Given the description of an element on the screen output the (x, y) to click on. 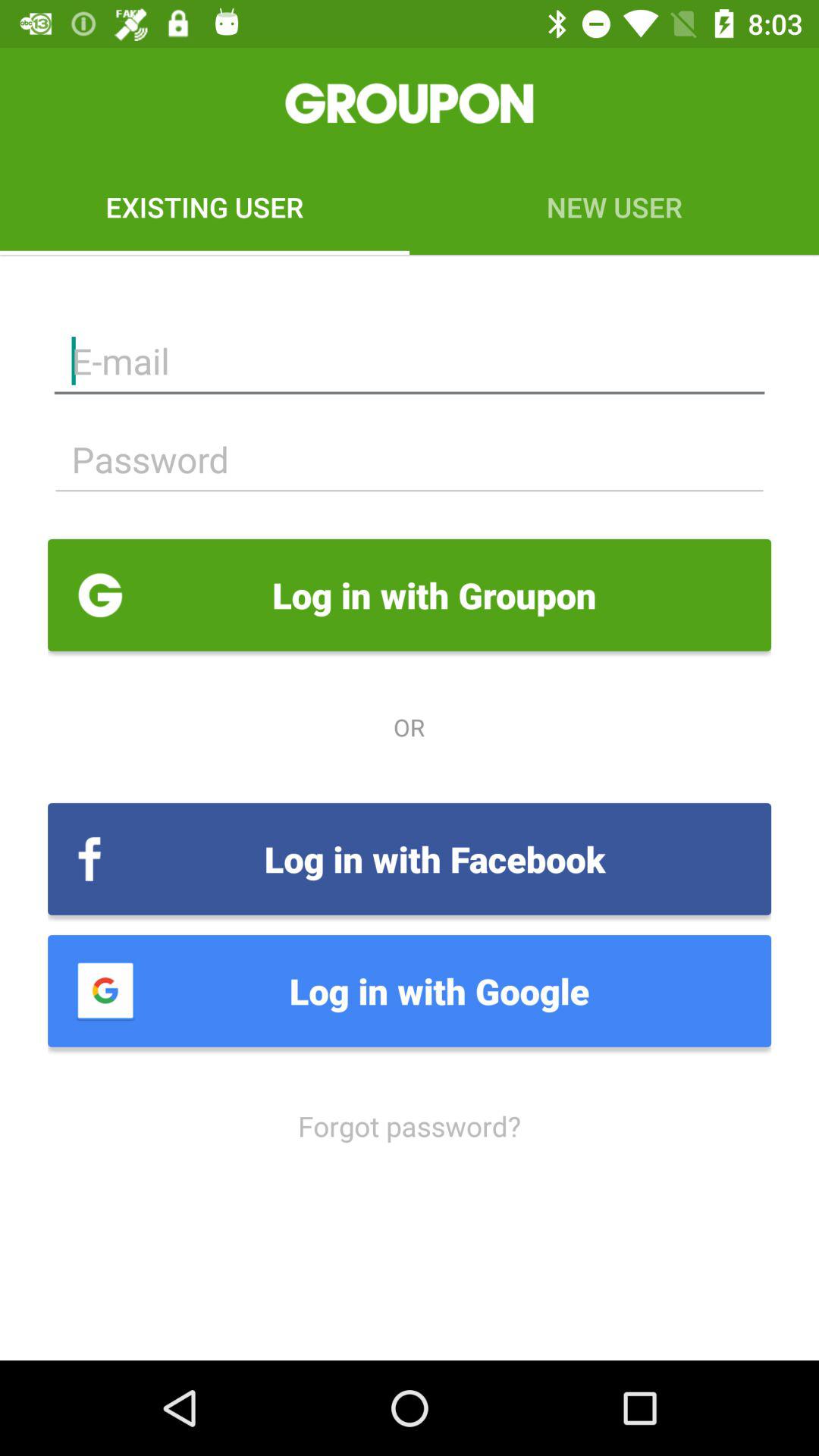
groupon password (409, 459)
